Given the description of an element on the screen output the (x, y) to click on. 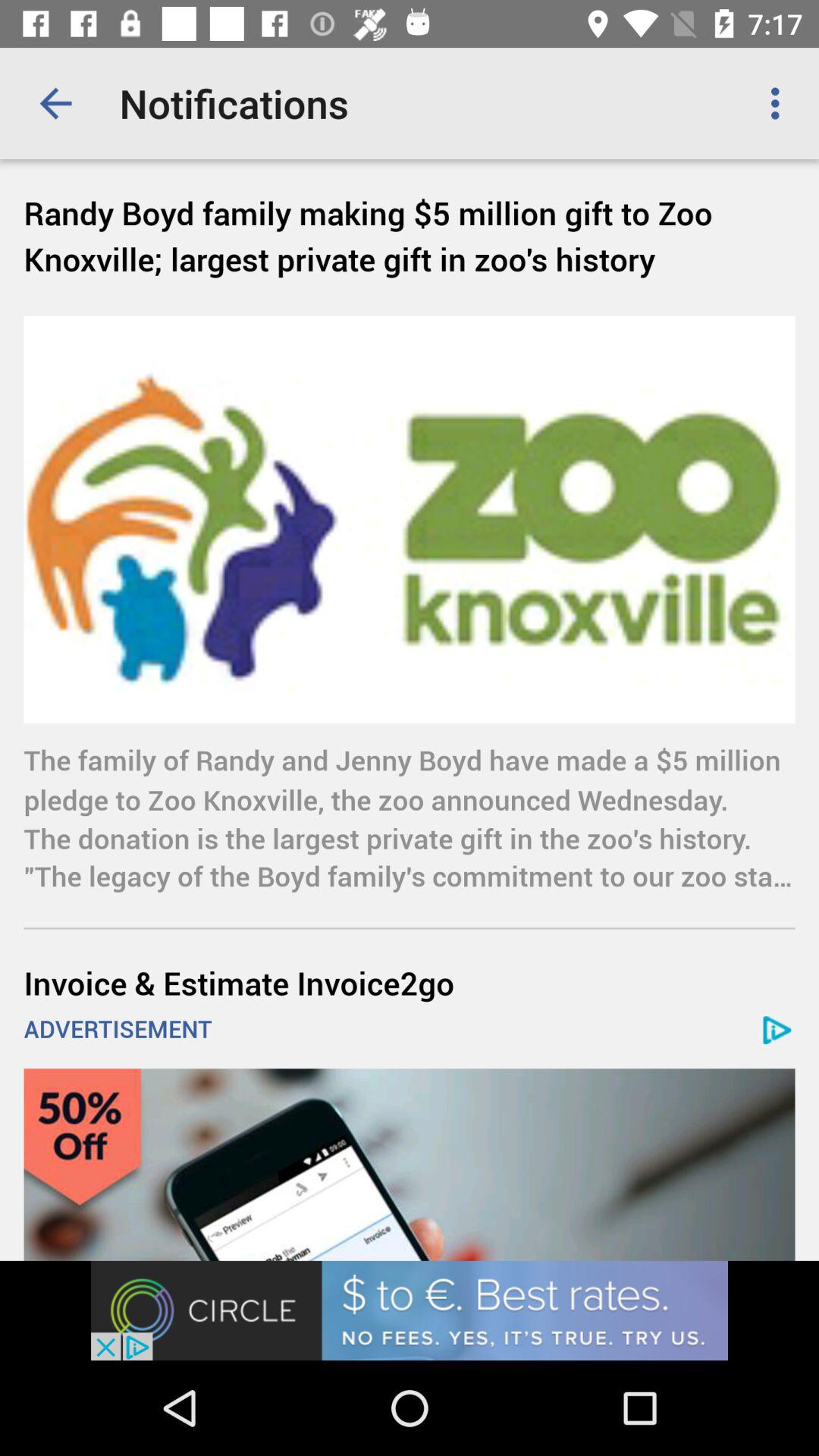
click the offer (409, 1164)
